Given the description of an element on the screen output the (x, y) to click on. 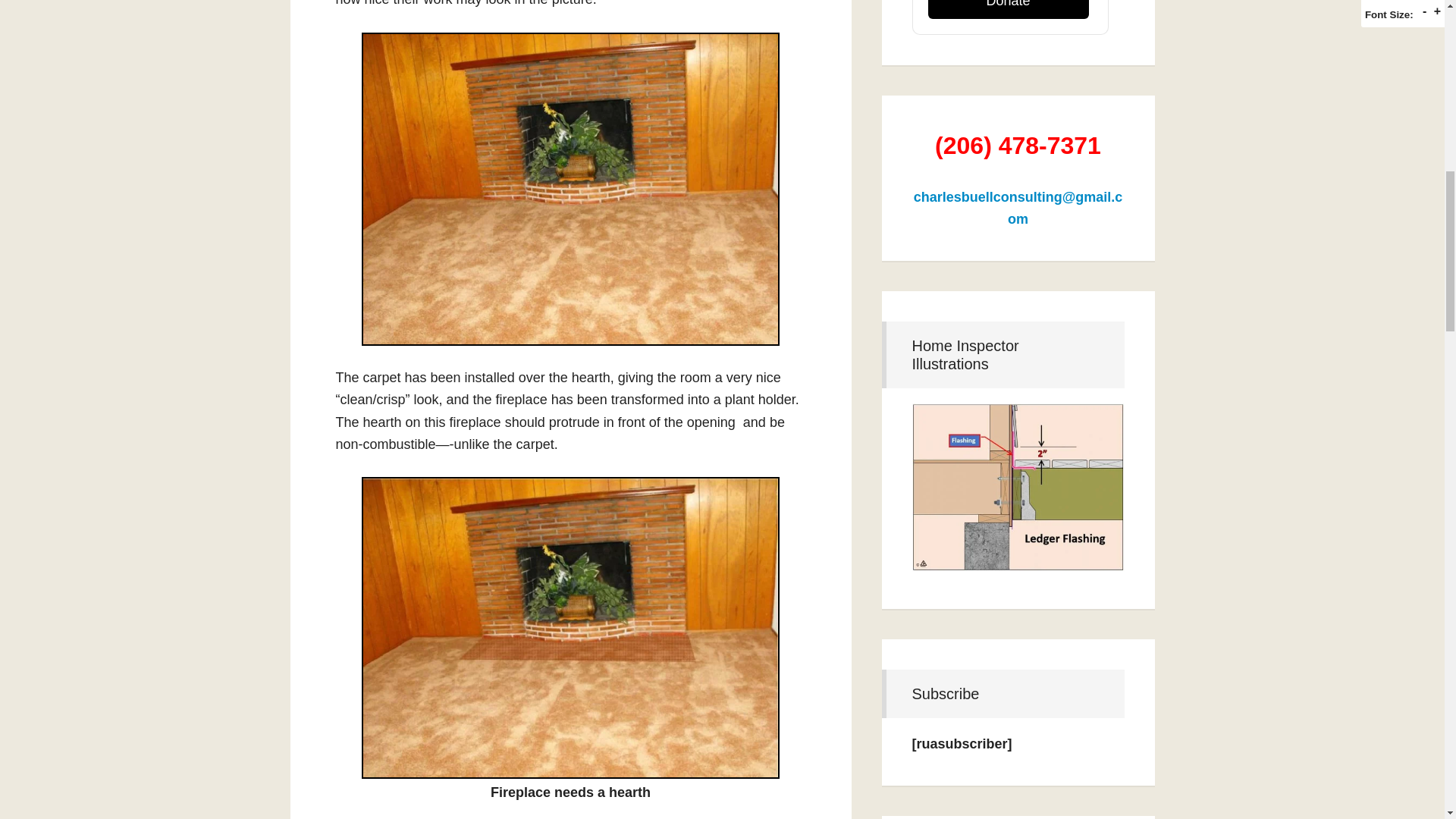
fireplace1 (569, 189)
fireplace2 (569, 627)
Donate (1008, 9)
